Given the description of an element on the screen output the (x, y) to click on. 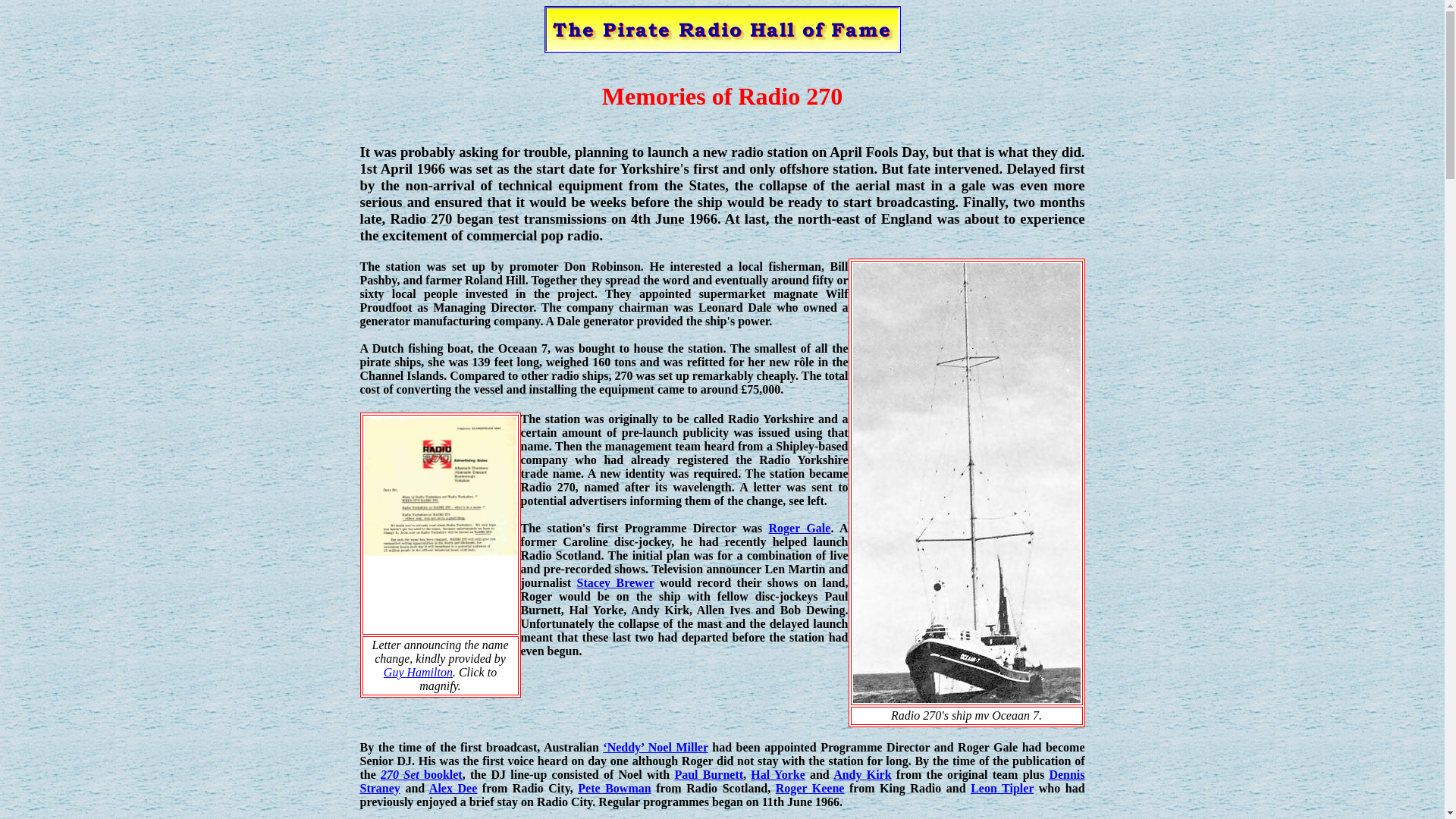
270 Set booklet (421, 774)
Alex Dee (453, 788)
Stacey Brewer (614, 582)
Pete Bowman (614, 788)
Guy Hamilton (418, 671)
Hal Yorke (778, 774)
Paul Burnett (708, 774)
Andy Kirk (861, 774)
Roger Keene (810, 788)
Leon Tipler (1002, 788)
